Given the description of an element on the screen output the (x, y) to click on. 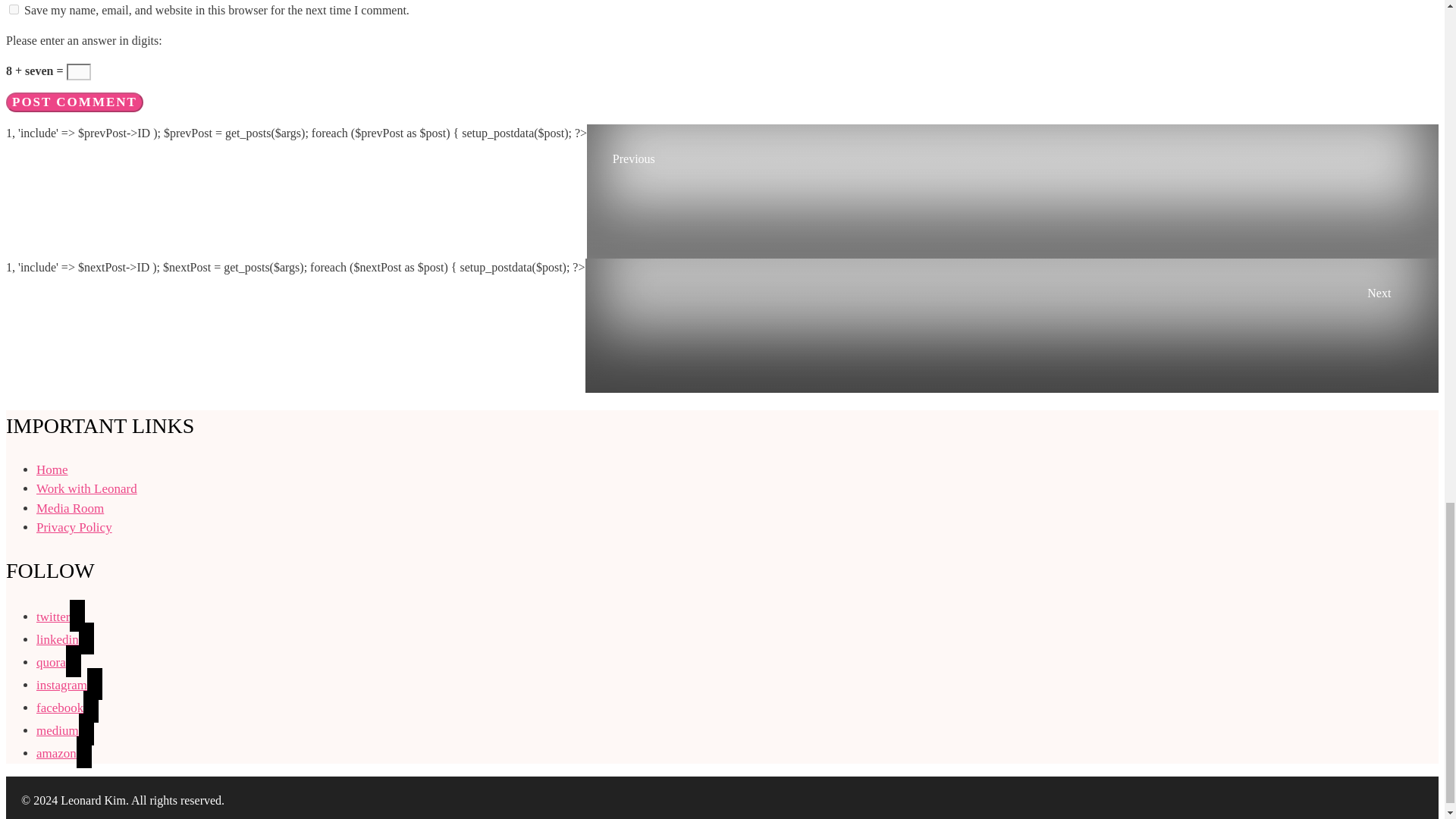
twitter (60, 616)
quora (58, 662)
Twitter (60, 616)
Work with Leonard (86, 488)
Facebook (67, 707)
Instagram (68, 685)
yes (13, 9)
Default Label (65, 730)
Default Label (65, 639)
Media Room (69, 508)
Post Comment (73, 102)
Home (52, 469)
Default Label (63, 753)
Default Label (58, 662)
Post Comment (73, 102)
